Given the description of an element on the screen output the (x, y) to click on. 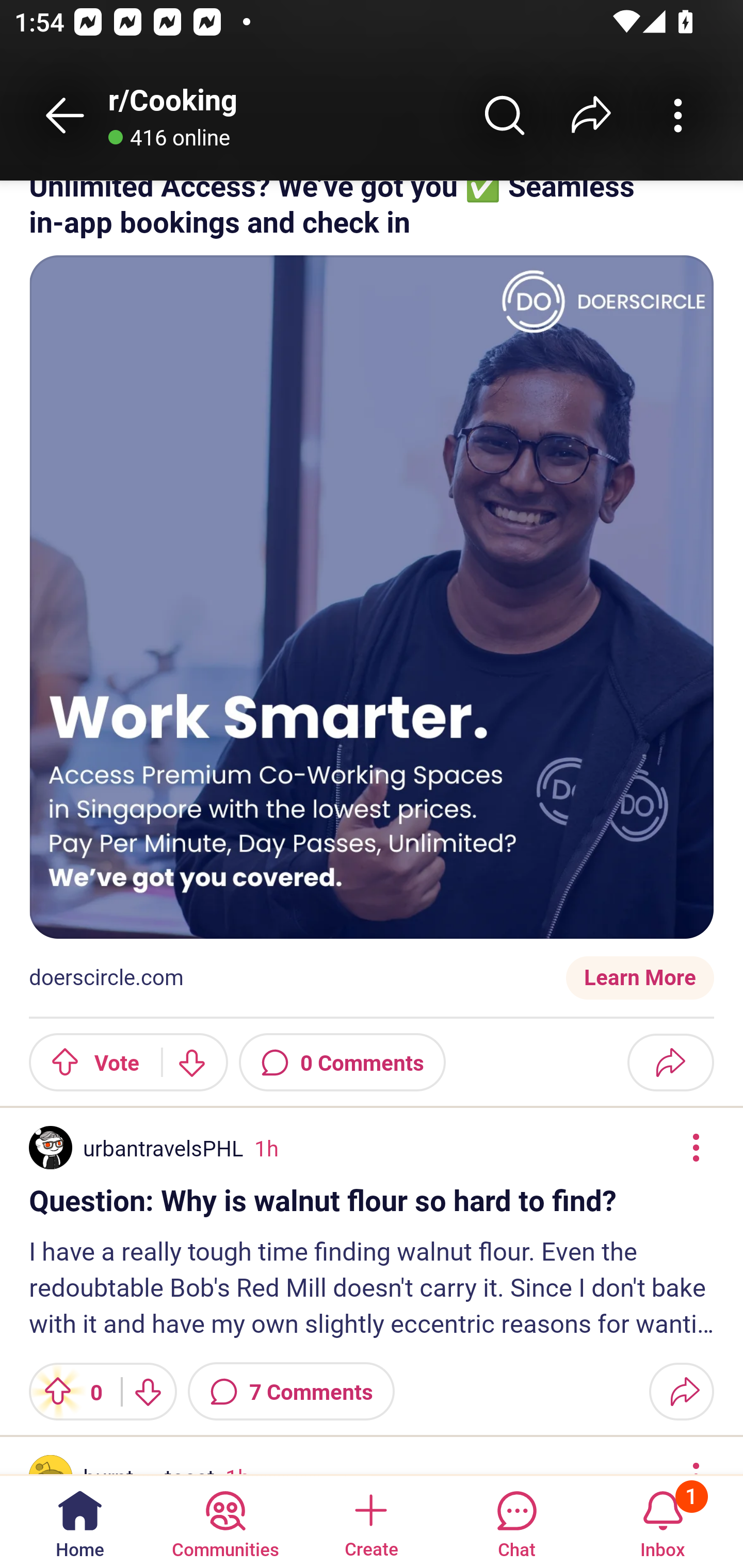
Back (64, 115)
Search r/﻿Cooking (504, 115)
Share r/﻿Cooking (591, 115)
More community actions (677, 115)
Home (80, 1520)
Communities (225, 1520)
Create a post Create (370, 1520)
Chat (516, 1520)
Inbox, has 1 notification 1 Inbox (662, 1520)
